Given the description of an element on the screen output the (x, y) to click on. 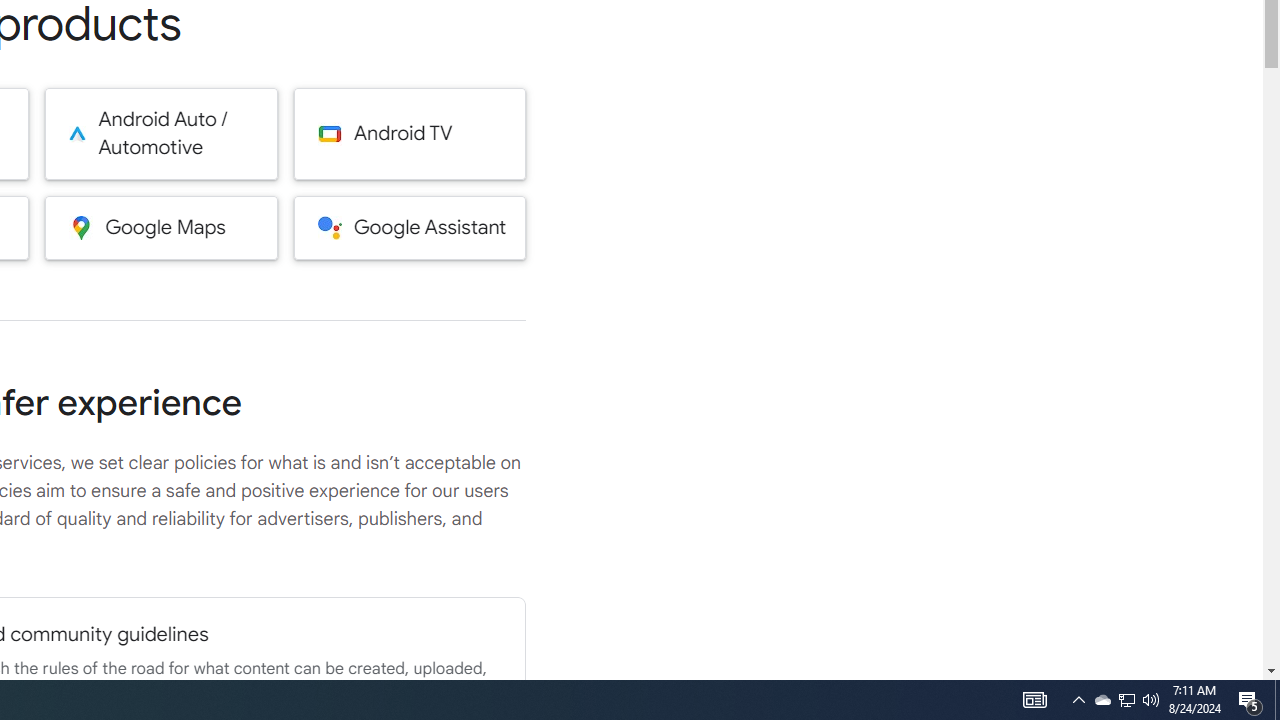
Android Auto / Automotive (160, 133)
Google Assistant (410, 227)
Google Maps (160, 227)
Android TV (410, 133)
